Given the description of an element on the screen output the (x, y) to click on. 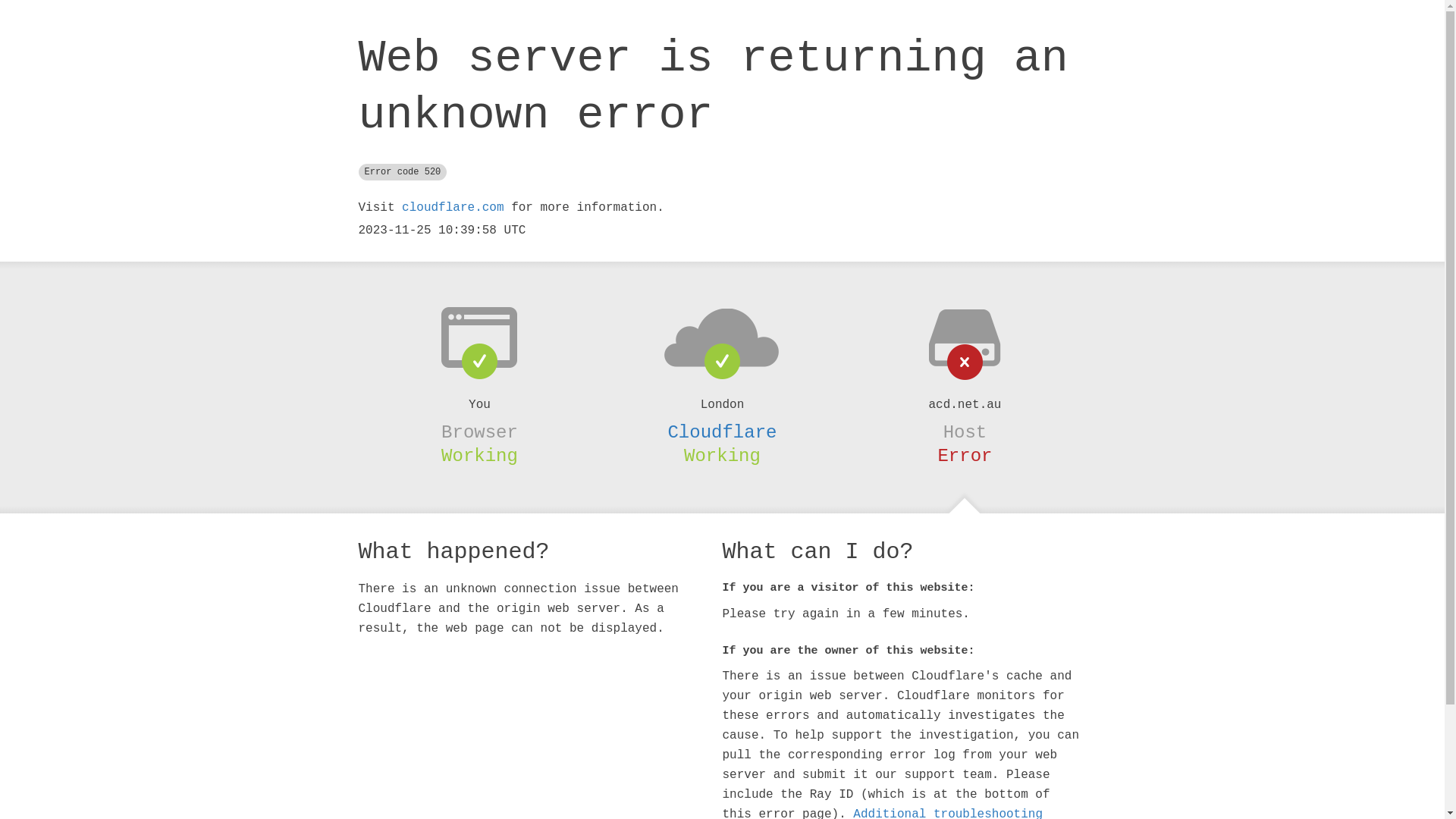
cloudflare.com Element type: text (452, 207)
Cloudflare Element type: text (721, 432)
